Given the description of an element on the screen output the (x, y) to click on. 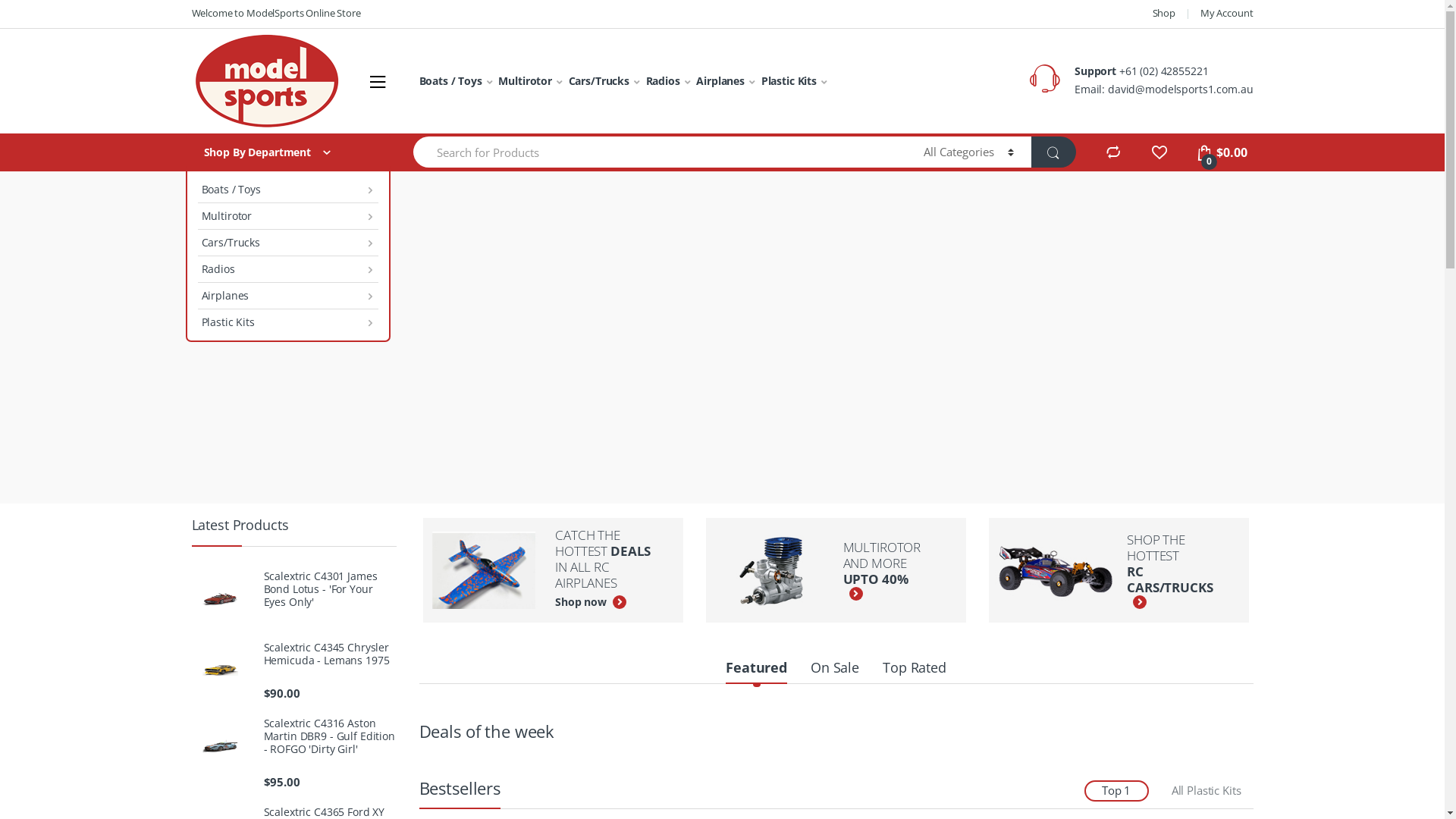
Scalextric C4301 James Bond Lotus - 'For Your Eyes Only' Element type: text (293, 589)
Airplanes Element type: text (725, 80)
Radios Element type: text (668, 80)
Cars/Trucks Element type: text (604, 80)
CATCH THE
HOTTEST DEALS
IN ALL RC AIRPLANES
Shop now Element type: text (546, 570)
Boats / Toys Element type: text (455, 80)
Radios Element type: text (287, 269)
Airplanes Element type: text (287, 295)
All Plastic Kits Element type: text (1206, 790)
Shop By Department Element type: text (287, 152)
Shop Element type: text (1163, 13)
Plastic Kits Element type: text (794, 80)
Featured Element type: text (756, 669)
Scalextric C4345 Chrysler Hemicuda - Lemans 1975 Element type: text (293, 654)
Multirotor Element type: text (287, 216)
Multirotor Element type: text (529, 80)
Cars/Trucks Element type: text (287, 242)
Boats / Toys Element type: text (287, 189)
My Account Element type: text (1226, 13)
0
$0.00 Element type: text (1220, 152)
MULTIROTOR
AND MORE
UPTO 40% Element type: text (830, 569)
Plastic Kits Element type: text (287, 322)
Welcome to ModelSports Online Store Element type: text (275, 13)
Top Rated Element type: text (914, 669)
SHOP THE
HOTTEST
RC CARS/TRUCKS Element type: text (1112, 570)
On Sale Element type: text (834, 669)
